Given the description of an element on the screen output the (x, y) to click on. 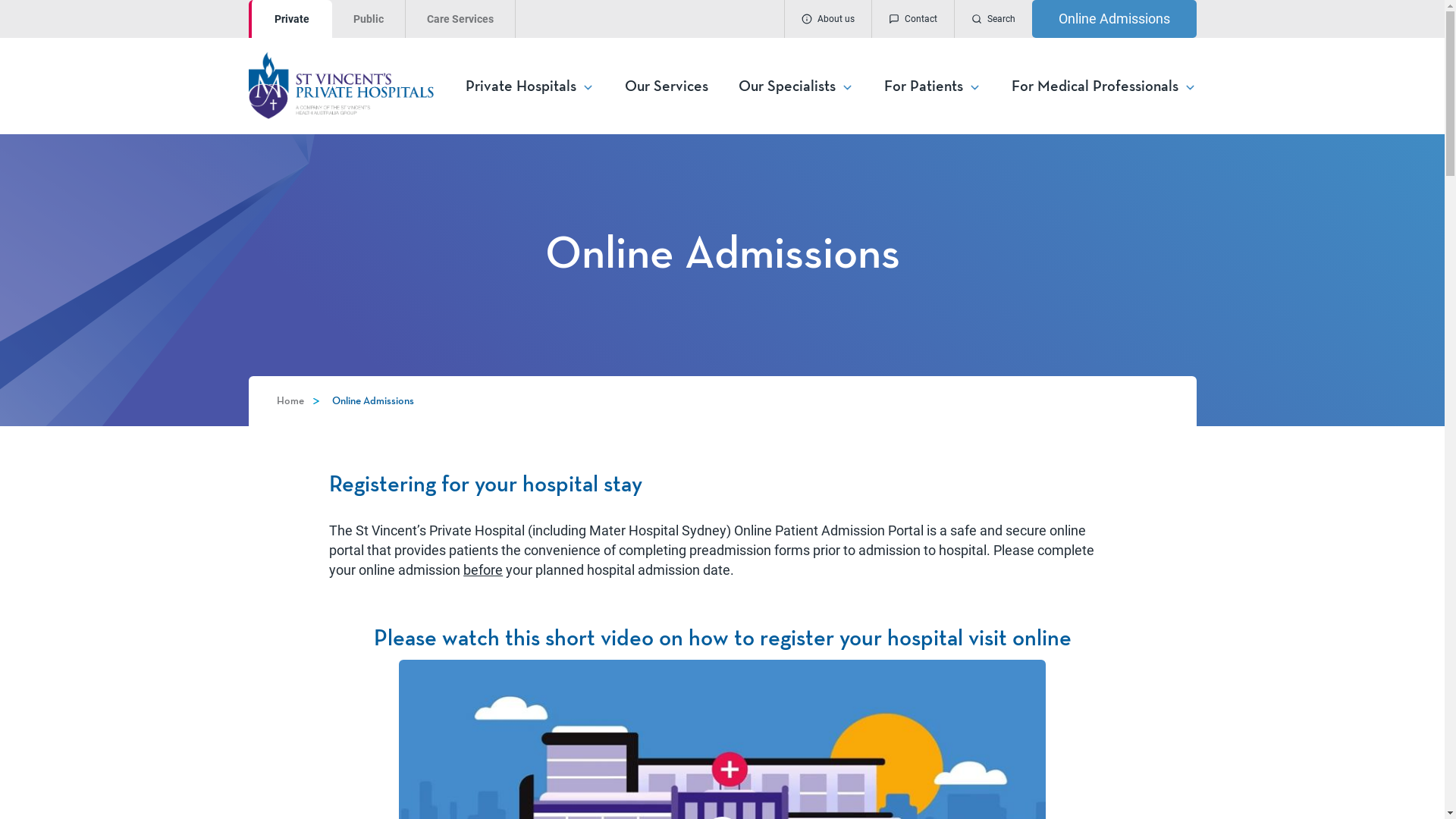
Care Services Element type: text (459, 18)
About us Element type: text (827, 18)
Our Services Element type: text (666, 85)
For Medical Professionals Element type: text (1103, 85)
For Patients Element type: text (932, 85)
Search Element type: text (992, 18)
Online Admissions Element type: text (1113, 18)
Private Hospitals Element type: text (529, 85)
Contact Element type: text (911, 18)
Public Element type: text (368, 18)
Our Specialists Element type: text (795, 85)
Private Element type: text (290, 18)
St Vincents Private Hospitals Element type: text (356, 85)
Home Element type: text (289, 400)
